Given the description of an element on the screen output the (x, y) to click on. 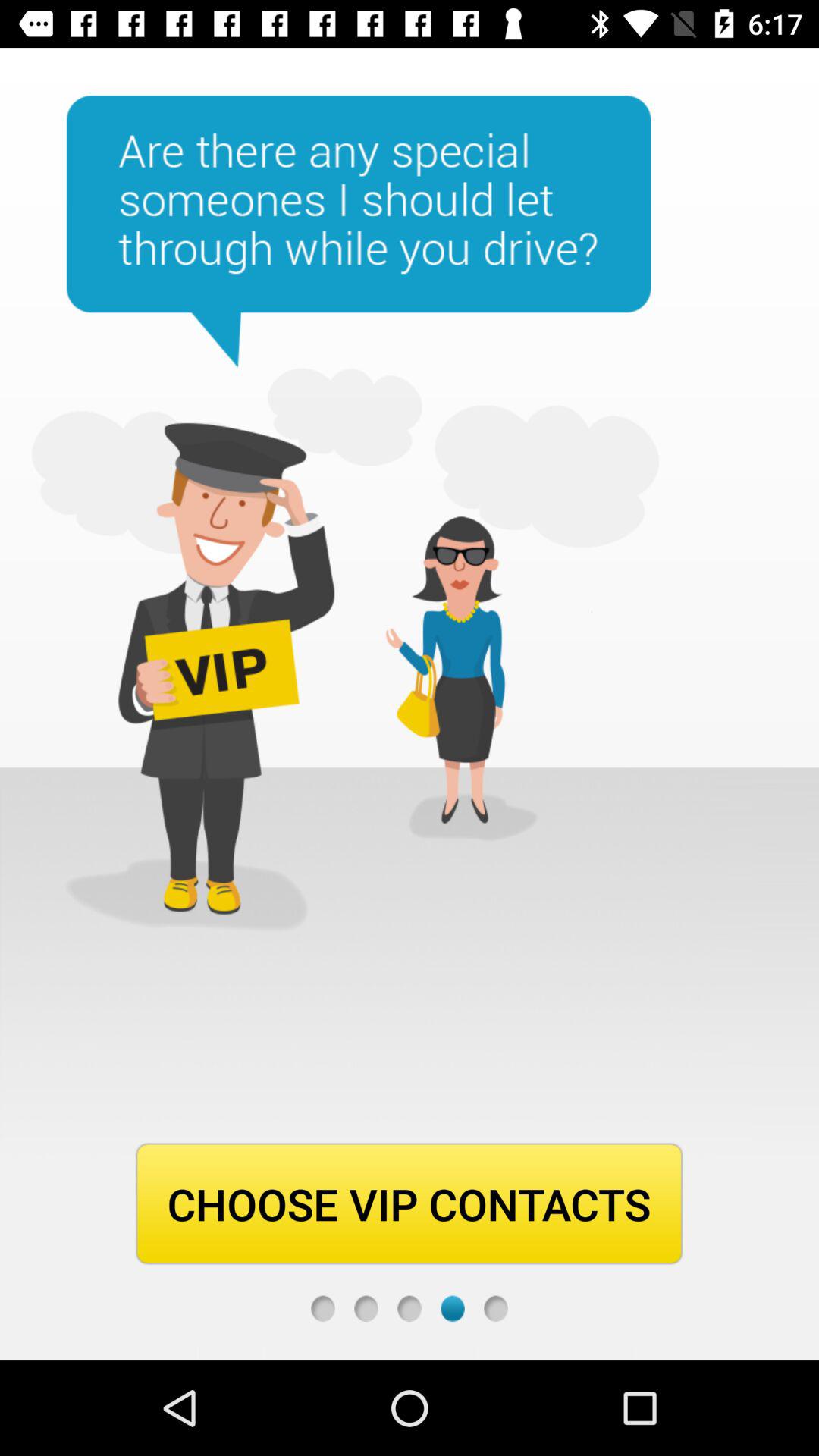
this is the actual card showed from a total of 5 (452, 1308)
